Given the description of an element on the screen output the (x, y) to click on. 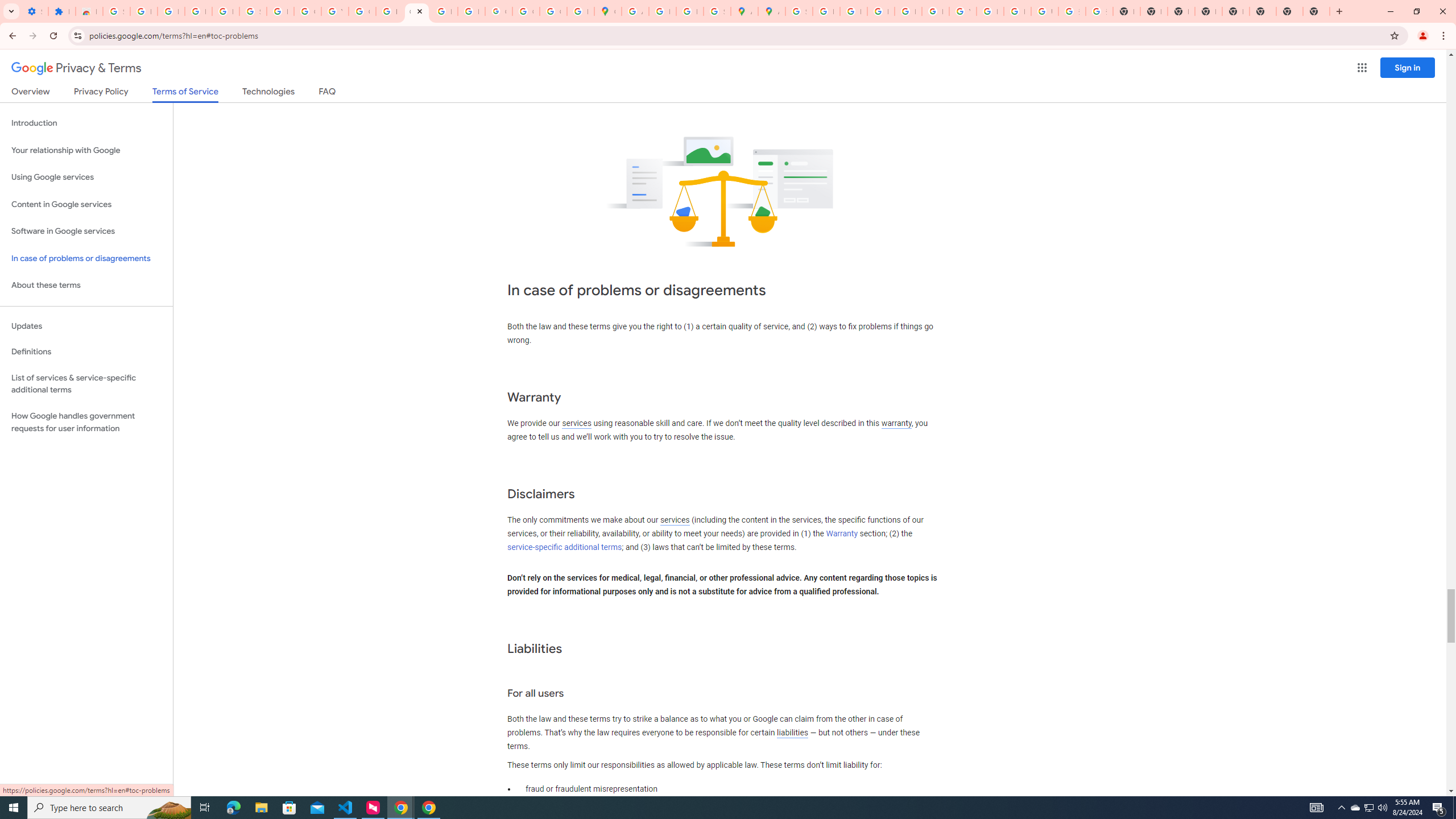
How Google handles government requests for user information (86, 422)
About these terms (86, 284)
warranty (895, 423)
New Tab (1316, 11)
Warranty (841, 533)
